Given the description of an element on the screen output the (x, y) to click on. 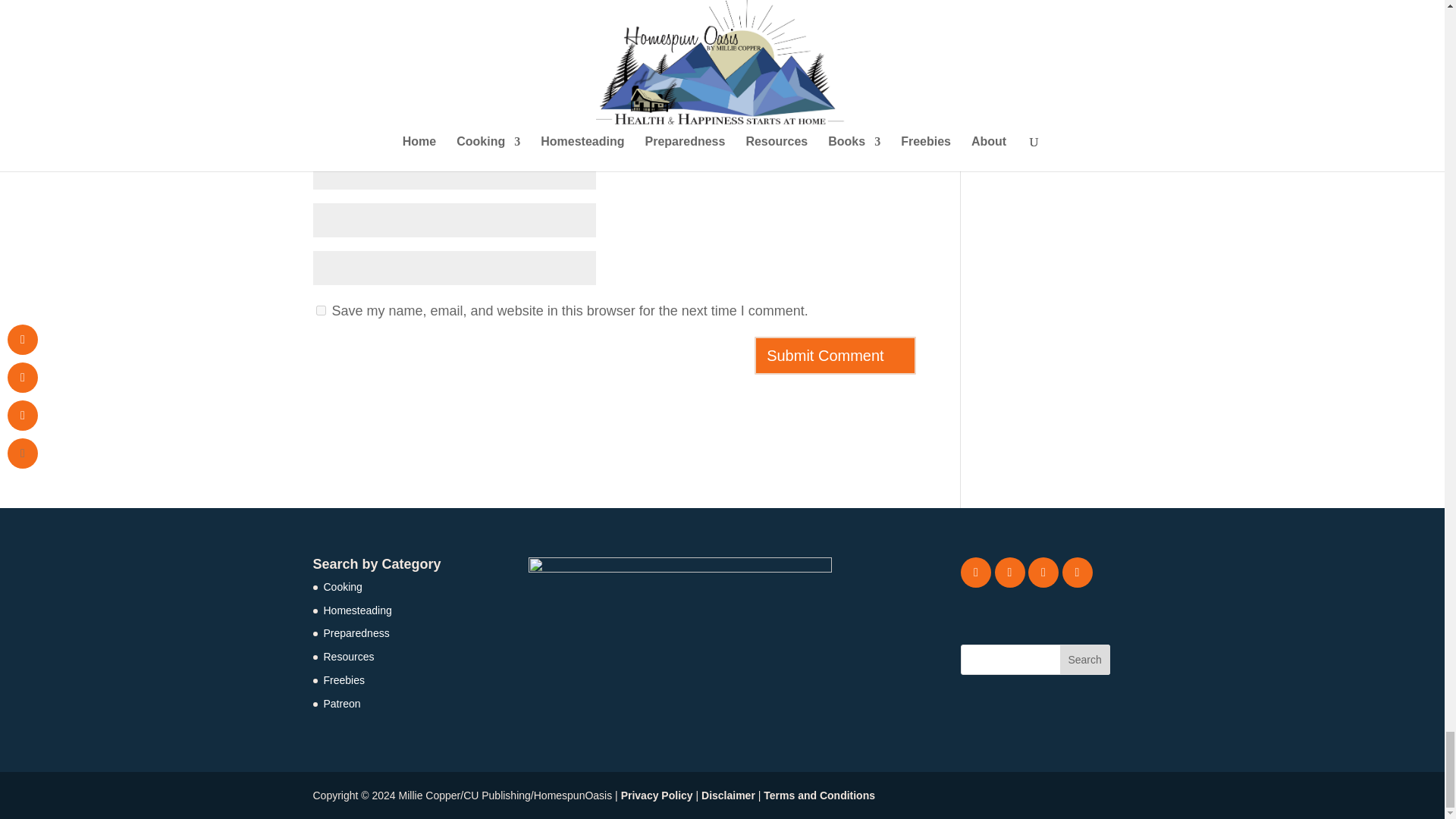
Submit Comment (834, 355)
yes (319, 310)
Search (1084, 659)
